Given the description of an element on the screen output the (x, y) to click on. 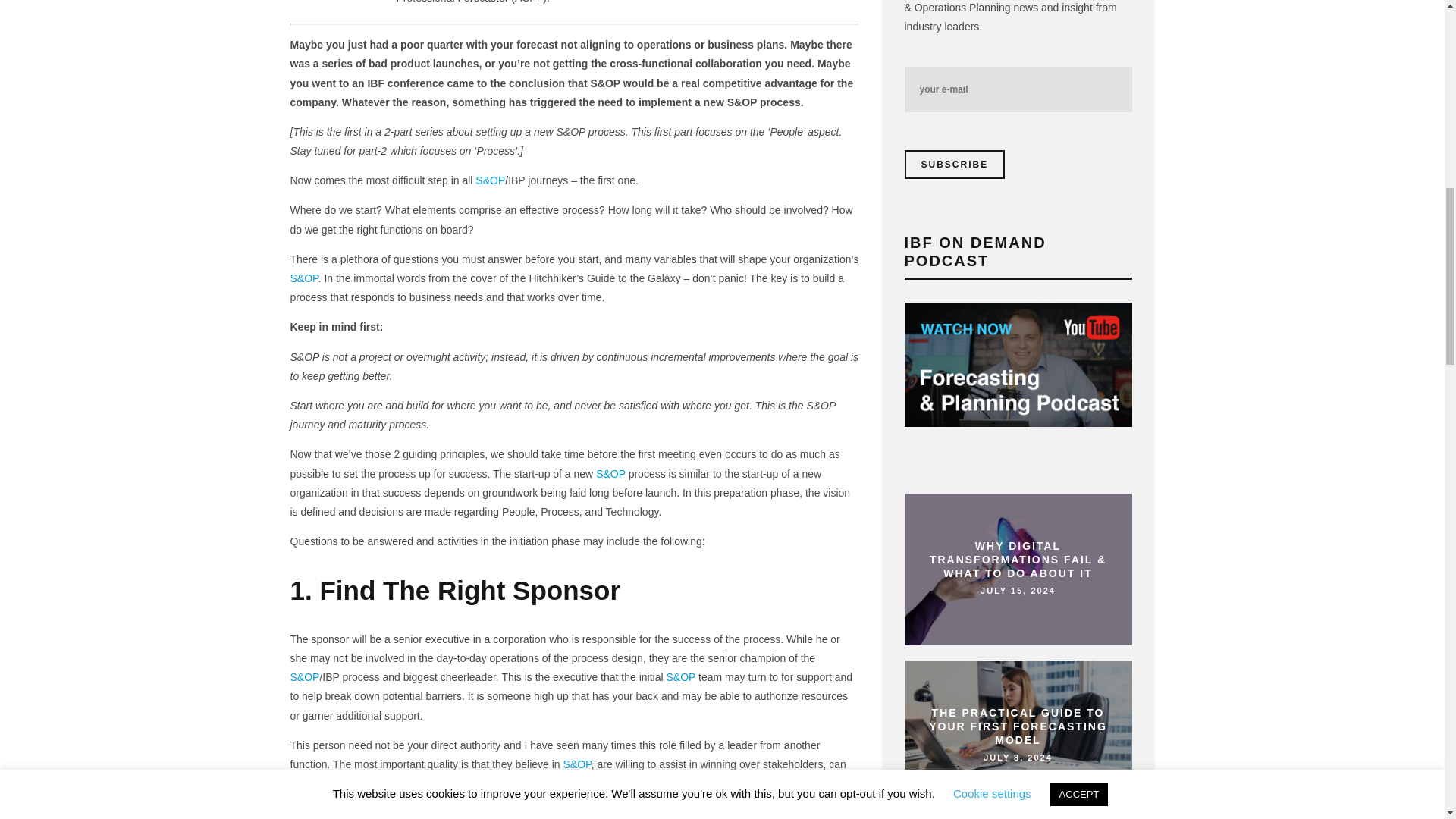
Subscribe (954, 164)
